Given the description of an element on the screen output the (x, y) to click on. 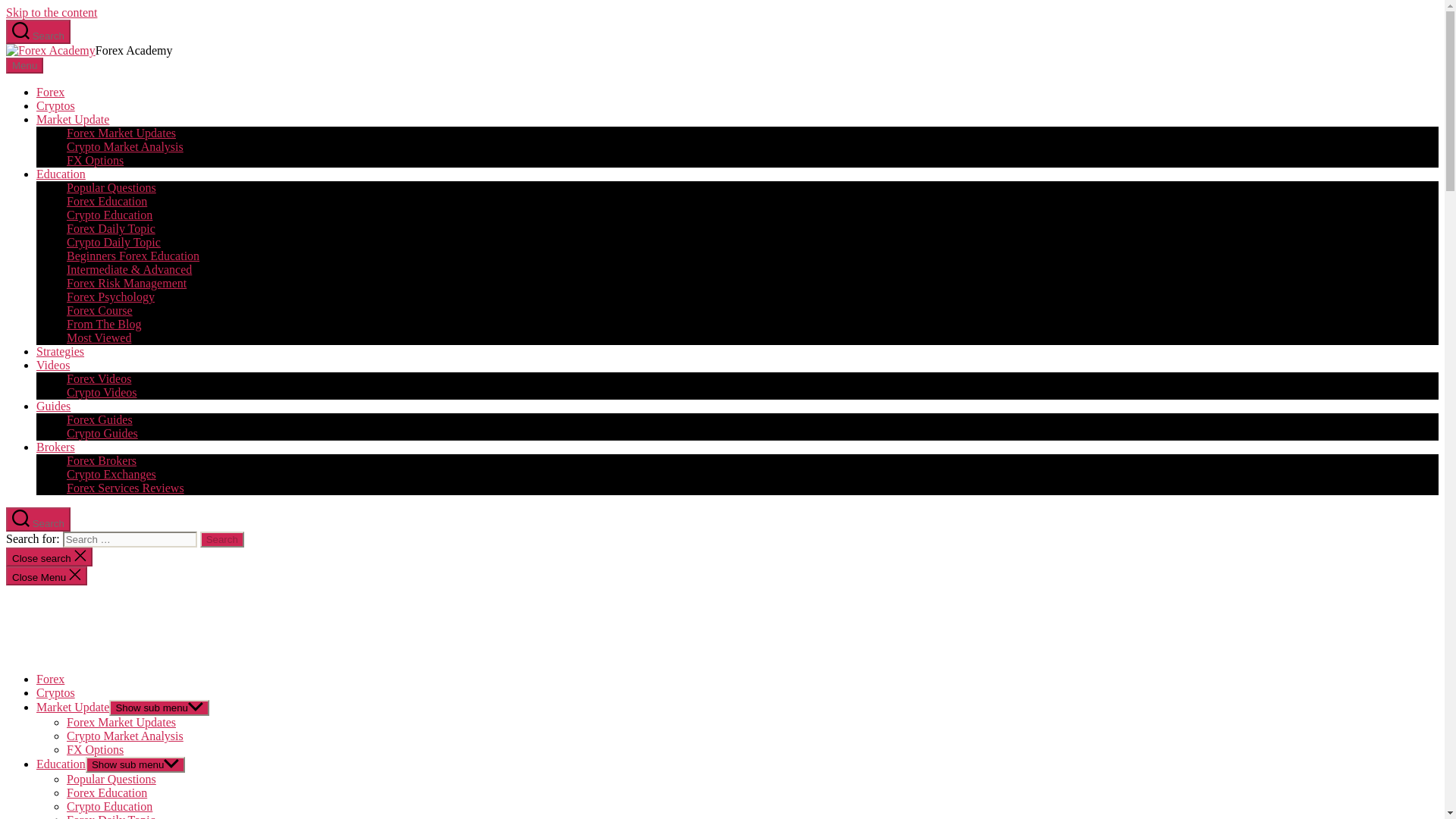
Forex Brokers (101, 460)
Menu (24, 65)
Forex Guides (99, 419)
Close search (49, 556)
Skip to the content (51, 11)
Forex Market Updates (121, 132)
Brokers (55, 446)
Forex Education (106, 201)
Forex Services Reviews (125, 487)
Education (60, 173)
Search (37, 31)
Beginners Forex Education (132, 255)
Market Update (72, 119)
FX Options (94, 160)
Guides (52, 405)
